Given the description of an element on the screen output the (x, y) to click on. 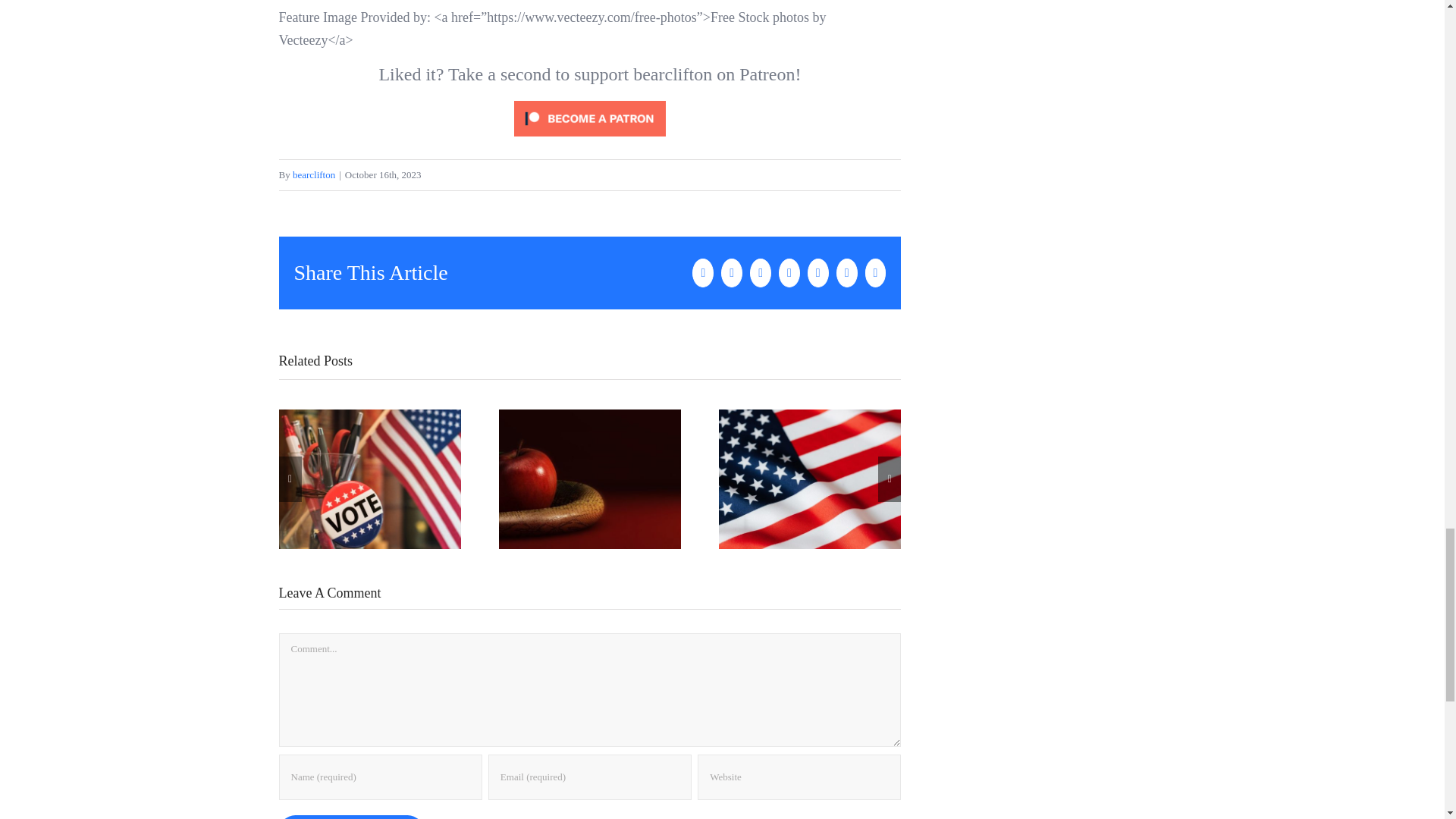
bearclifton (313, 174)
Post Comment (351, 816)
Posts by bearclifton (313, 174)
Post Comment (351, 816)
